Given the description of an element on the screen output the (x, y) to click on. 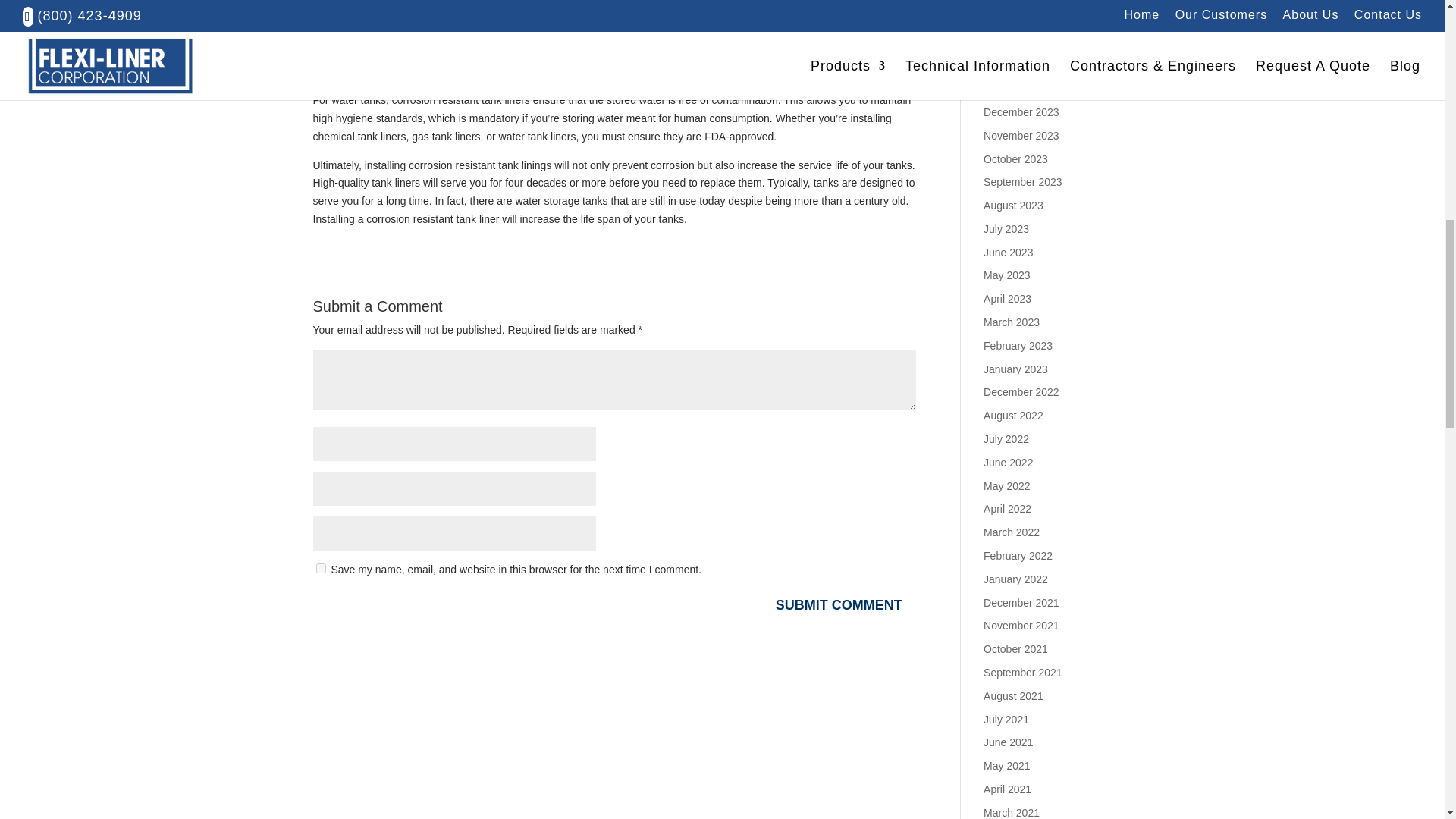
Submit Comment (838, 604)
yes (319, 568)
